Given the description of an element on the screen output the (x, y) to click on. 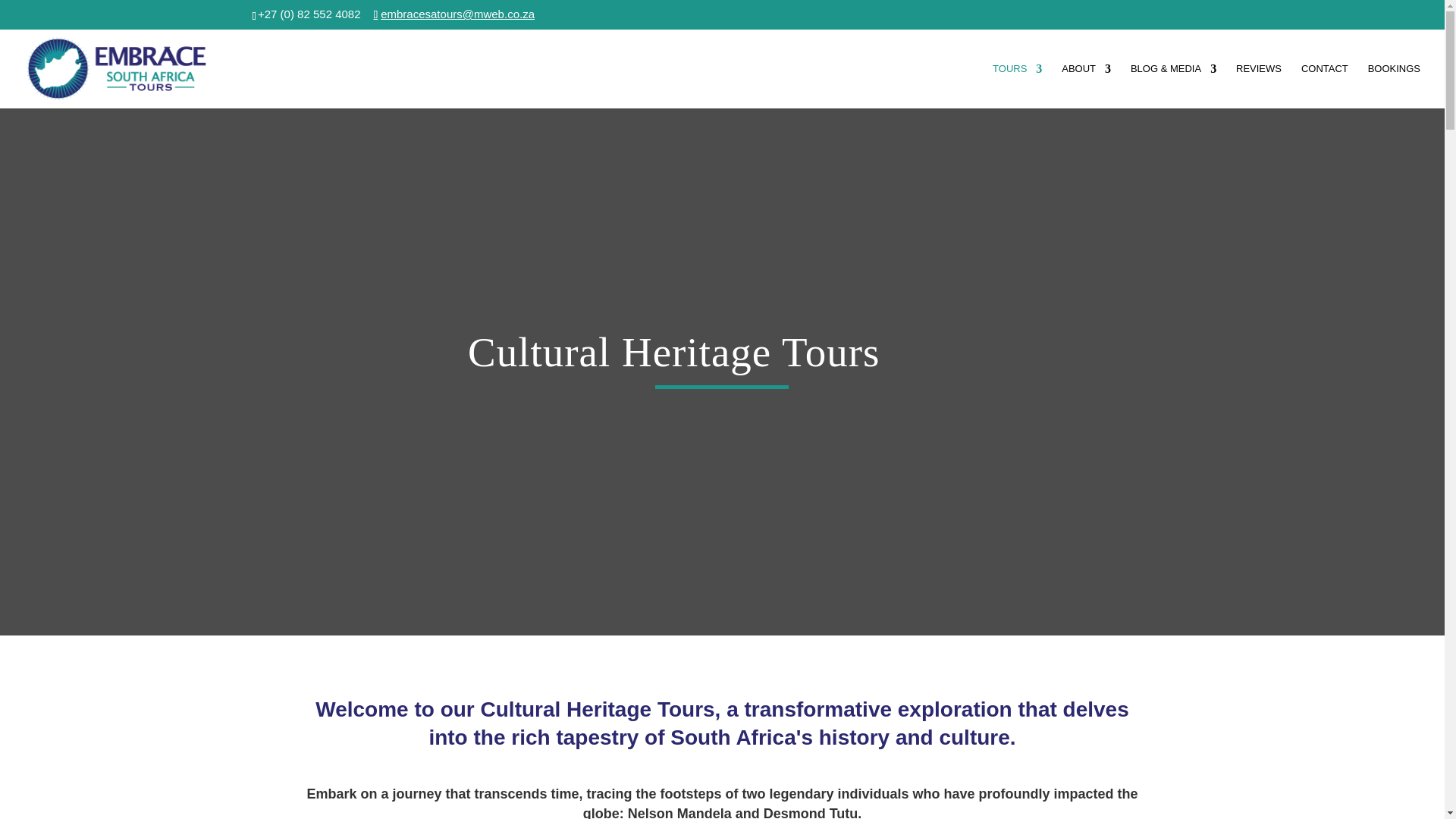
CONTACT (1324, 85)
TOURS (1017, 85)
ABOUT (1085, 85)
REVIEWS (1258, 85)
BOOKINGS (1394, 85)
